Given the description of an element on the screen output the (x, y) to click on. 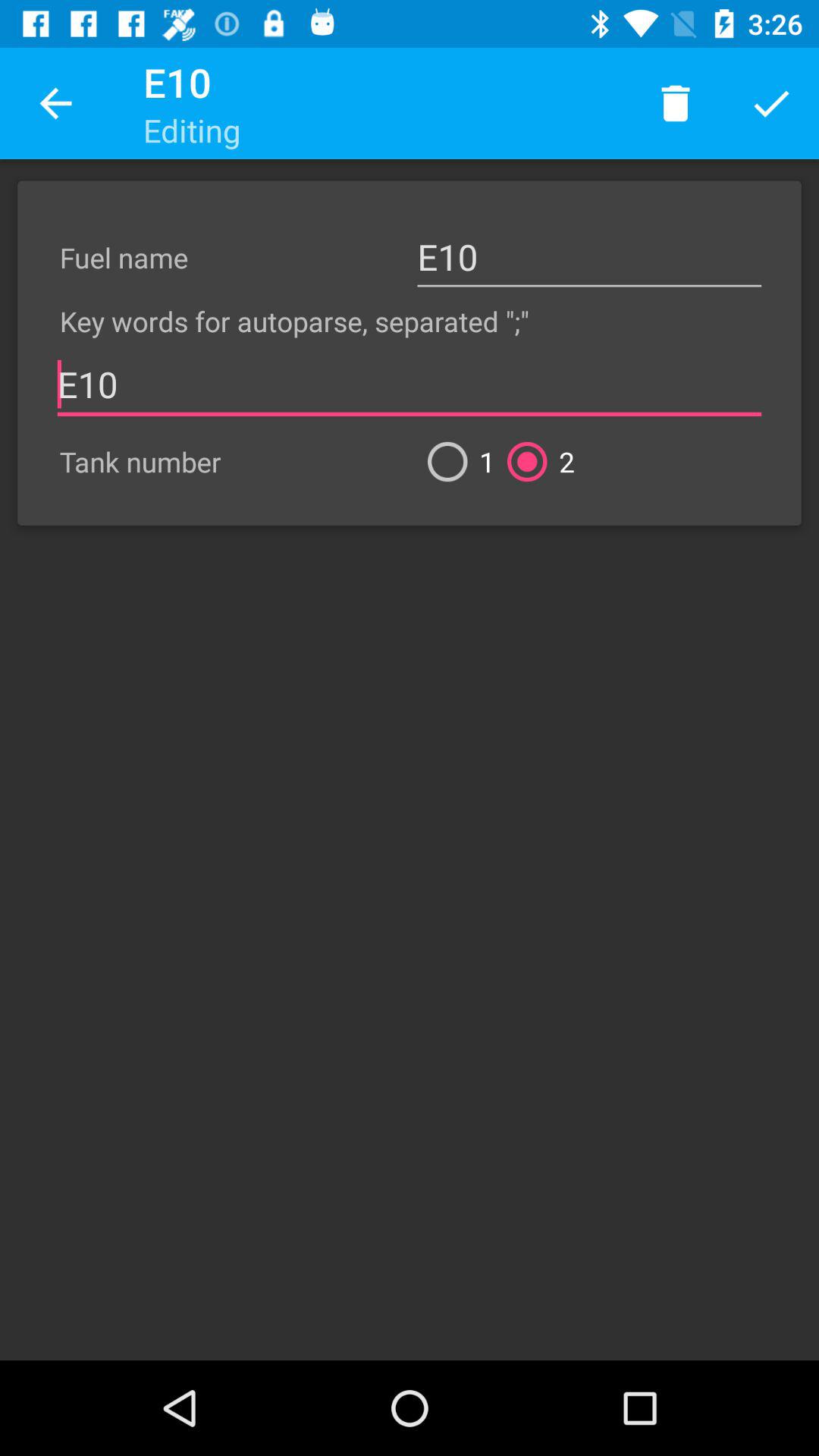
press 2 item (535, 461)
